Given the description of an element on the screen output the (x, y) to click on. 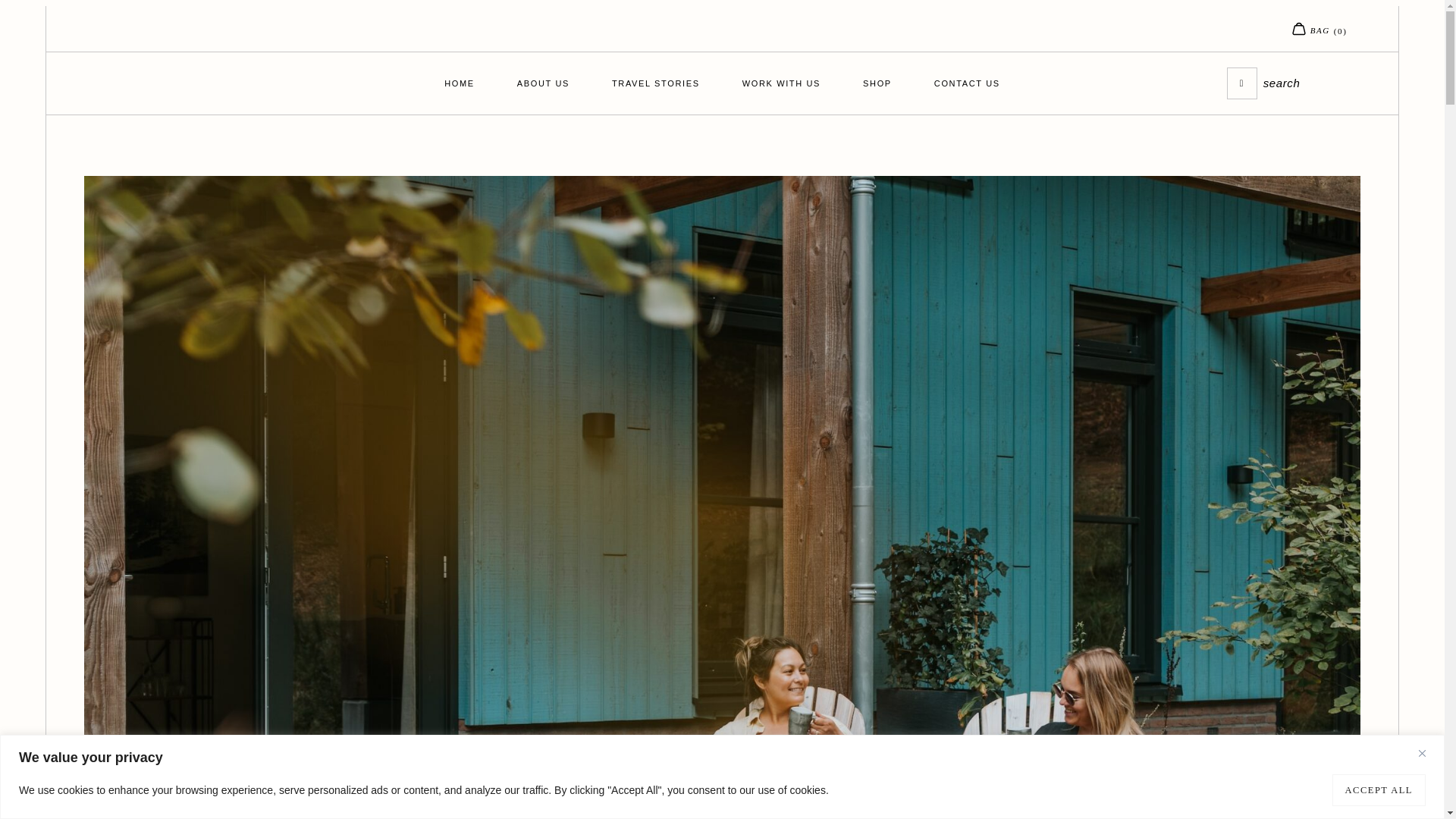
Search (1242, 82)
ACCEPT ALL (1378, 789)
HOME (459, 82)
ABOUT US (542, 82)
CONTACT US (967, 82)
TRAVEL STORIES (655, 82)
WORK WITH US (781, 82)
SHOP (877, 82)
Search (1304, 82)
